Given the description of an element on the screen output the (x, y) to click on. 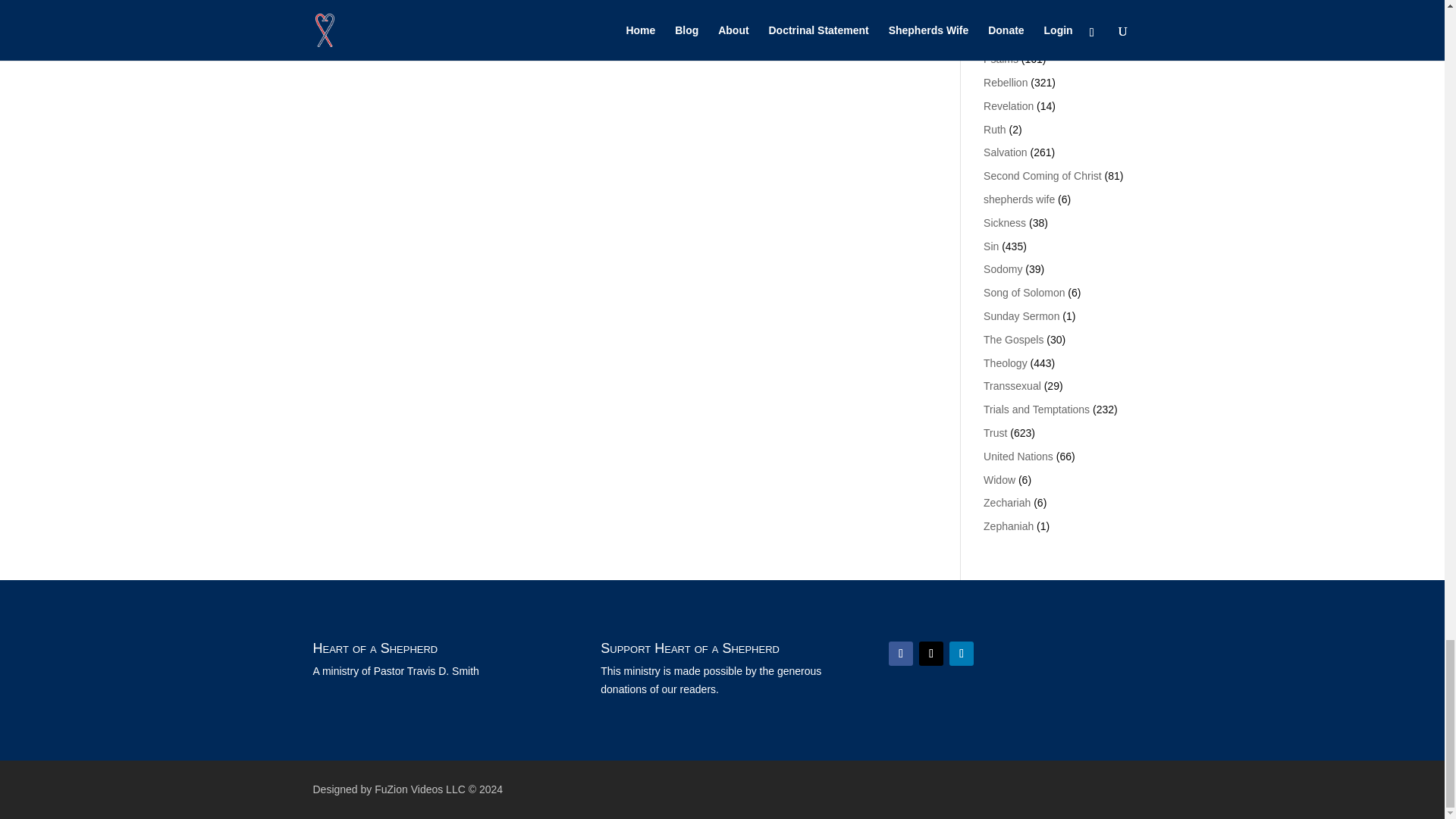
Follow on Facebook (900, 653)
Follow on X (930, 653)
